Given the description of an element on the screen output the (x, y) to click on. 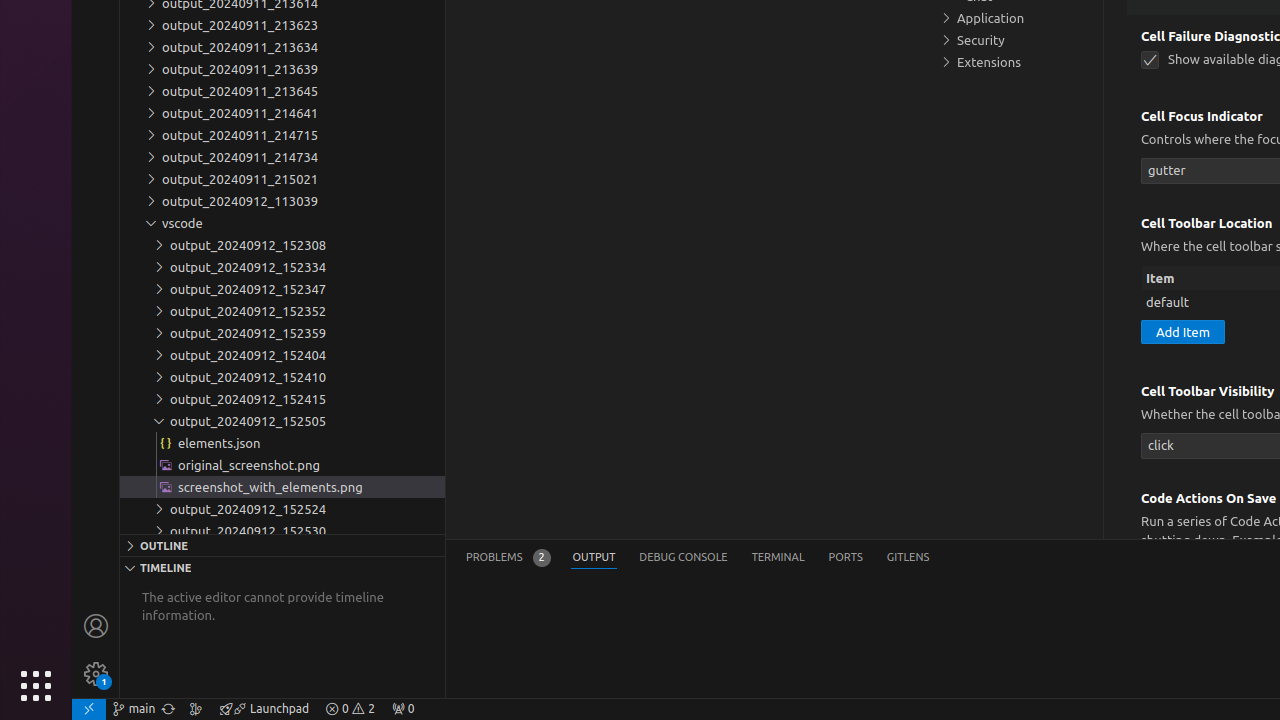
output_20240911_214734 Element type: tree-item (282, 157)
output_20240912_152415 Element type: tree-item (282, 399)
remote Element type: push-button (89, 709)
output_20240912_152505 Element type: tree-item (282, 421)
